Given the description of an element on the screen output the (x, y) to click on. 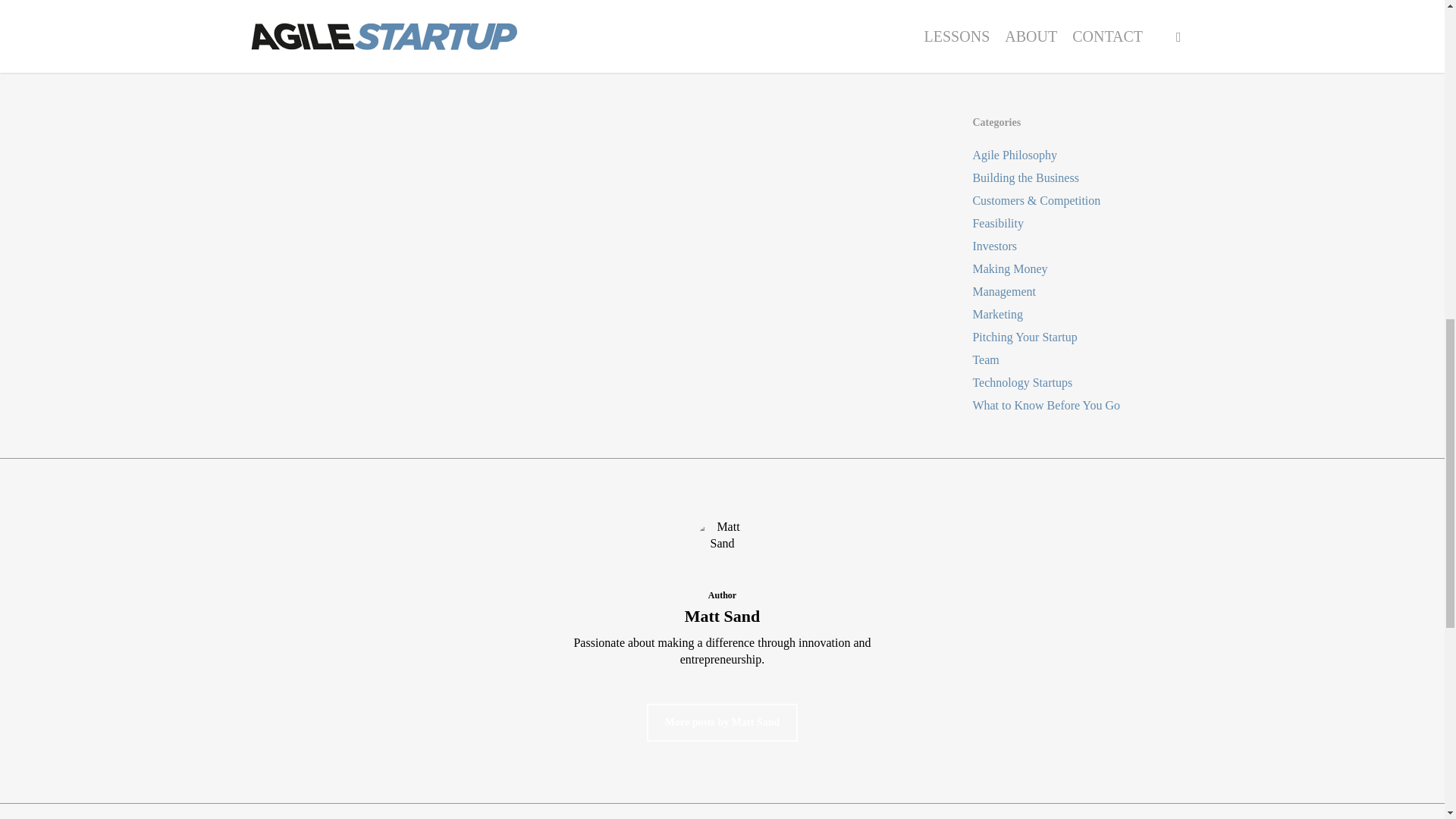
Team (1082, 360)
Feasibility (1082, 223)
Management (1082, 291)
Pitching Your Startup (1082, 337)
Building the Business (1082, 177)
Keep Digging! (1082, 15)
Technology Startups (1082, 382)
Agile Philosophy (1082, 155)
What to Know Before You Go (1082, 405)
Investors (1082, 246)
